Given the description of an element on the screen output the (x, y) to click on. 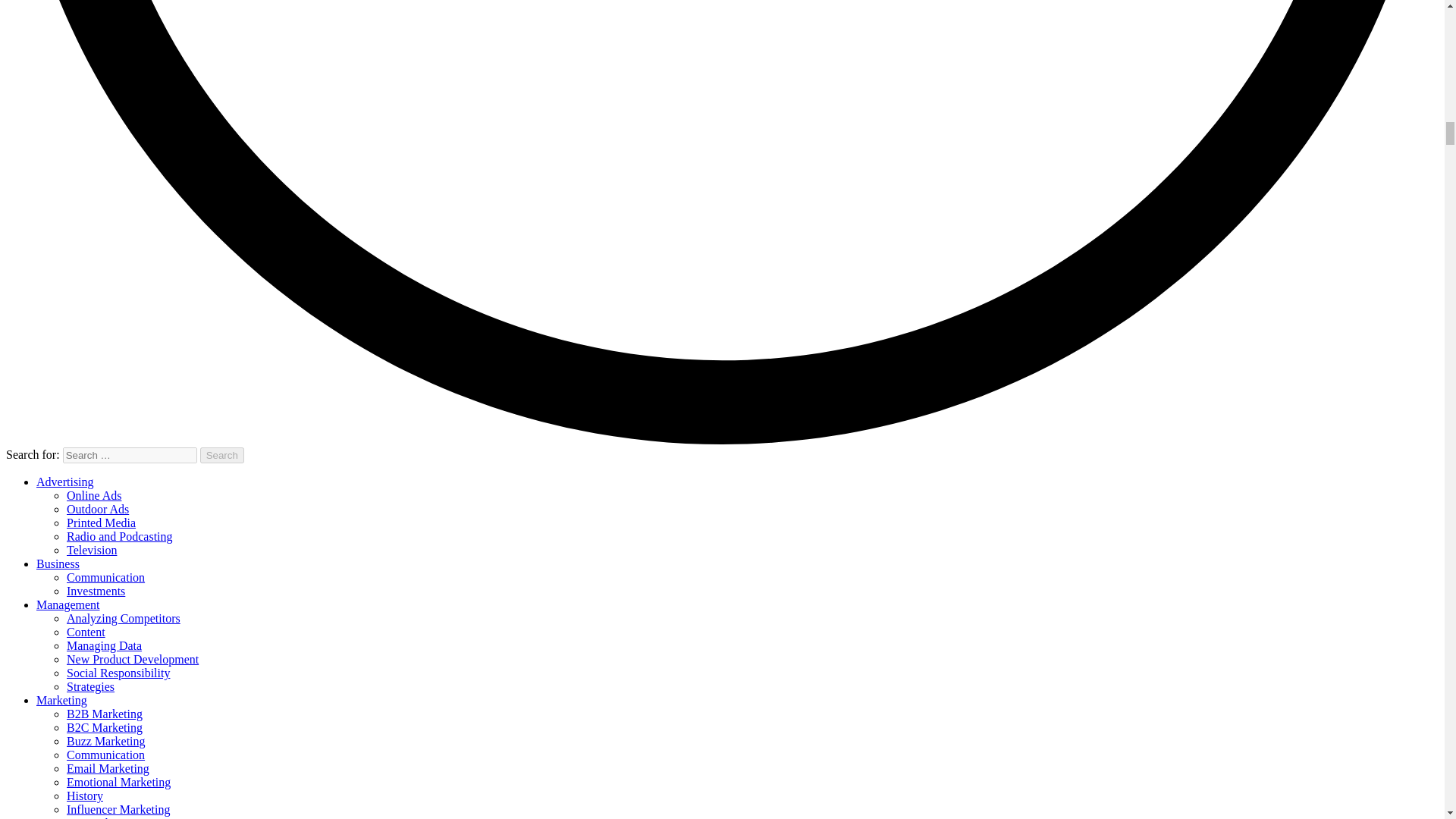
Search (222, 455)
Search (222, 455)
